Given the description of an element on the screen output the (x, y) to click on. 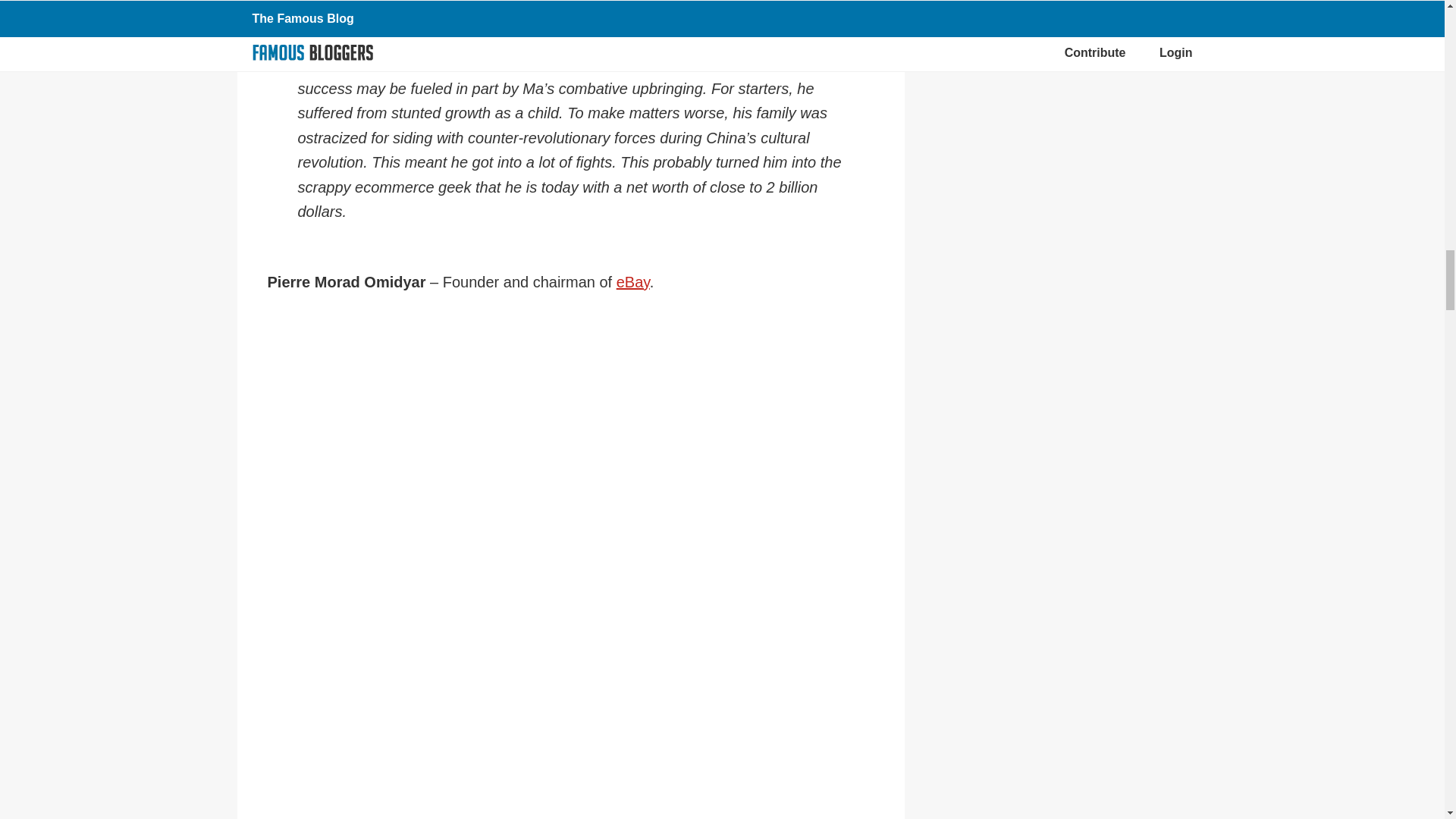
eBay (632, 281)
eBay (632, 281)
